Given the description of an element on the screen output the (x, y) to click on. 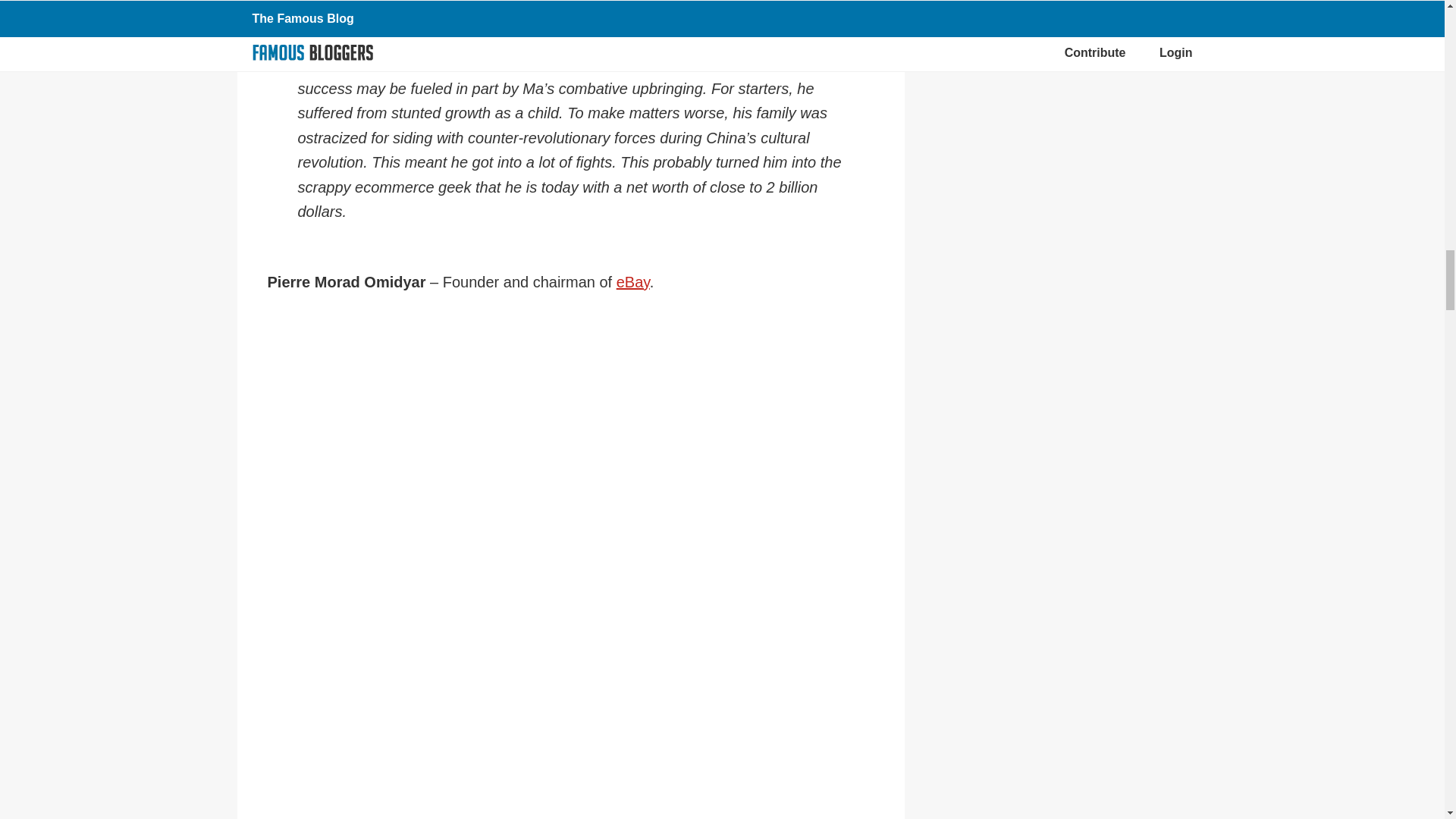
eBay (632, 281)
eBay (632, 281)
